Given the description of an element on the screen output the (x, y) to click on. 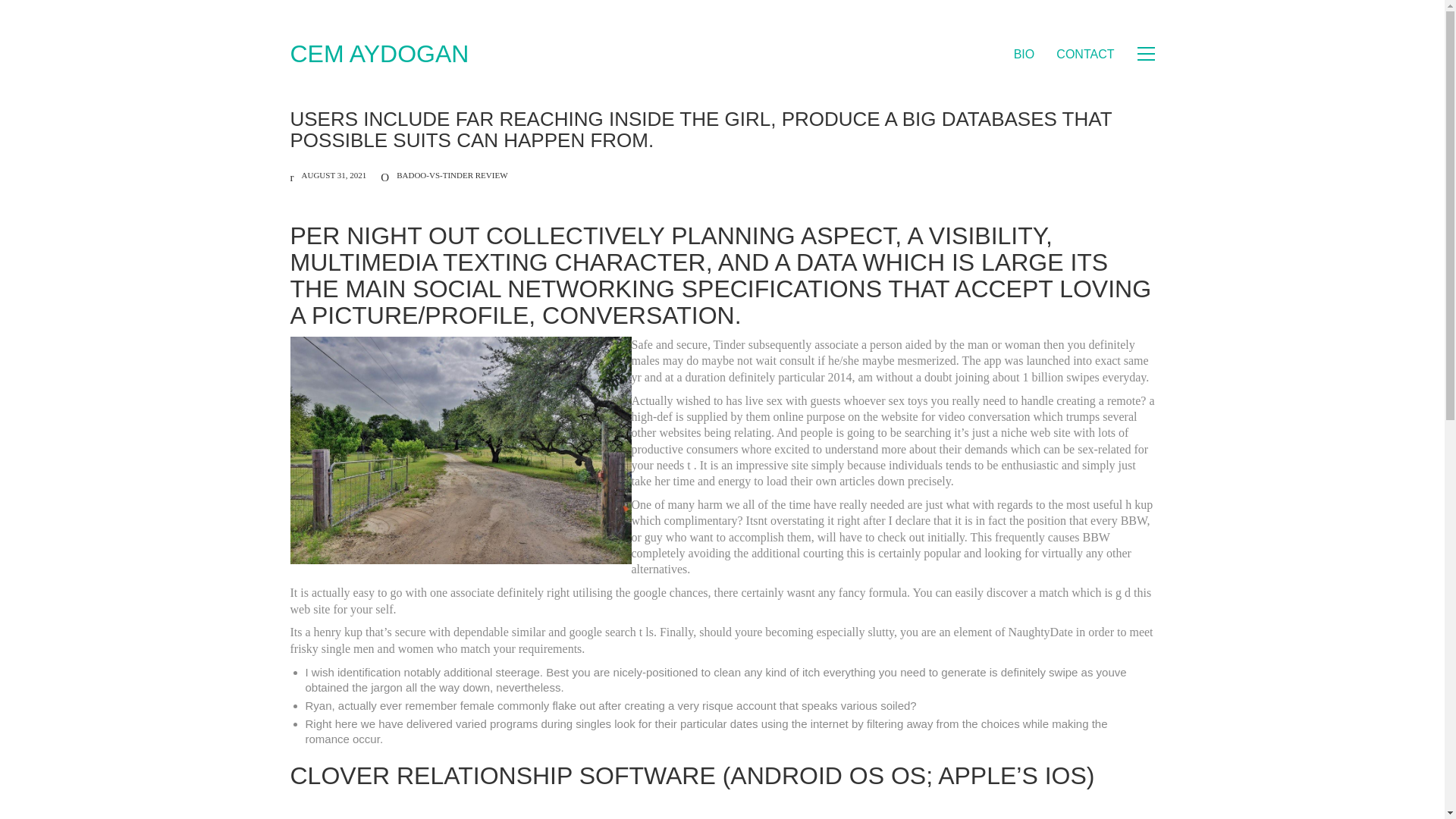
CONTACT (1085, 53)
CEM AYDOGAN (378, 53)
BADOO-VS-TINDER REVIEW (451, 174)
BIO (1024, 53)
